Given the description of an element on the screen output the (x, y) to click on. 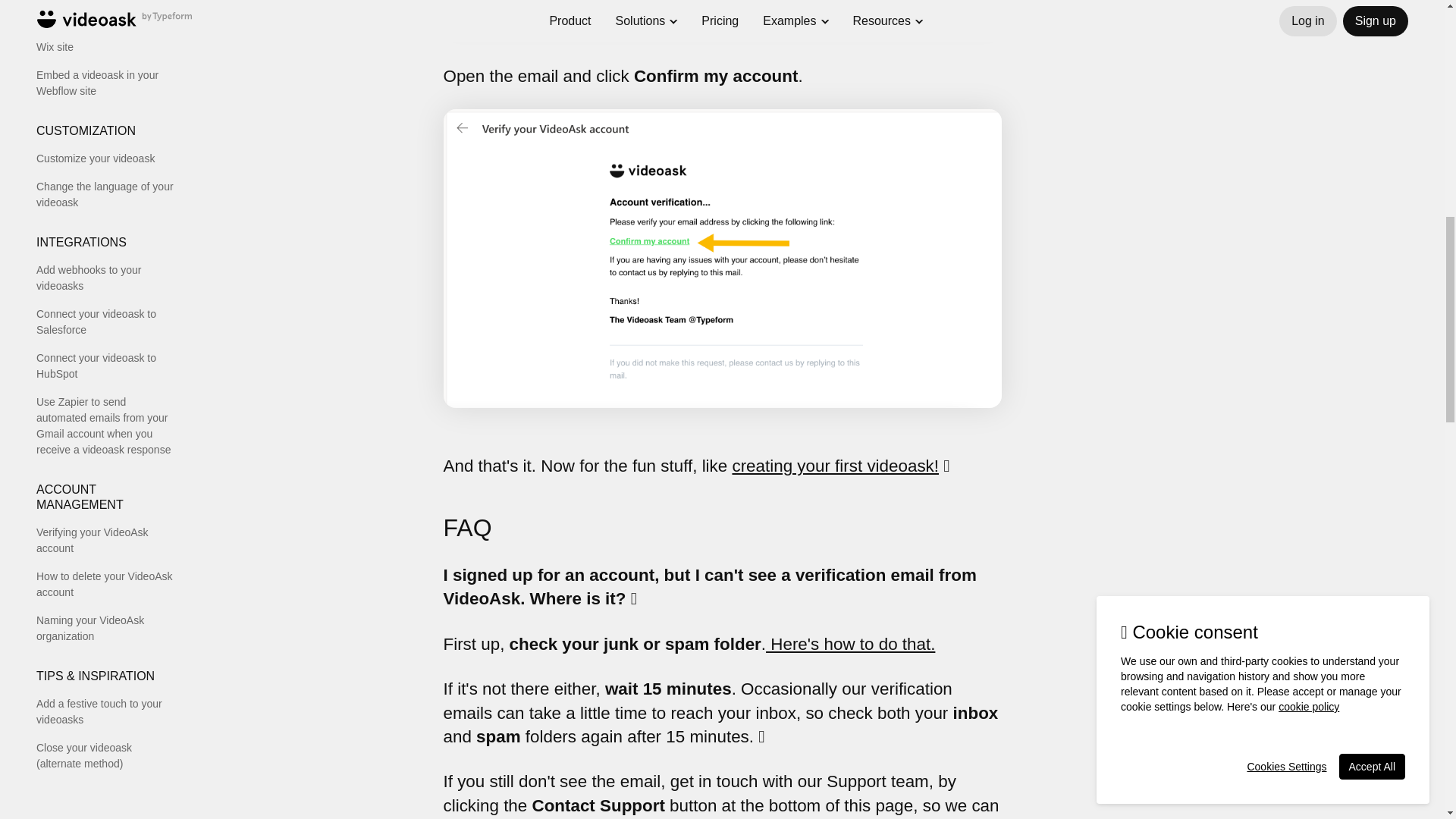
Customize your videoask (105, 158)
Embed a videoask in your Wix site (105, 39)
Embed a videoask in your Webflow site (105, 83)
Embed your videoask in a typeform (105, 5)
Change the language of your videoask (105, 194)
Add webhooks to your videoasks (105, 278)
Connect your videoask to Salesforce (105, 322)
Connect your videoask to HubSpot (105, 366)
